Given the description of an element on the screen output the (x, y) to click on. 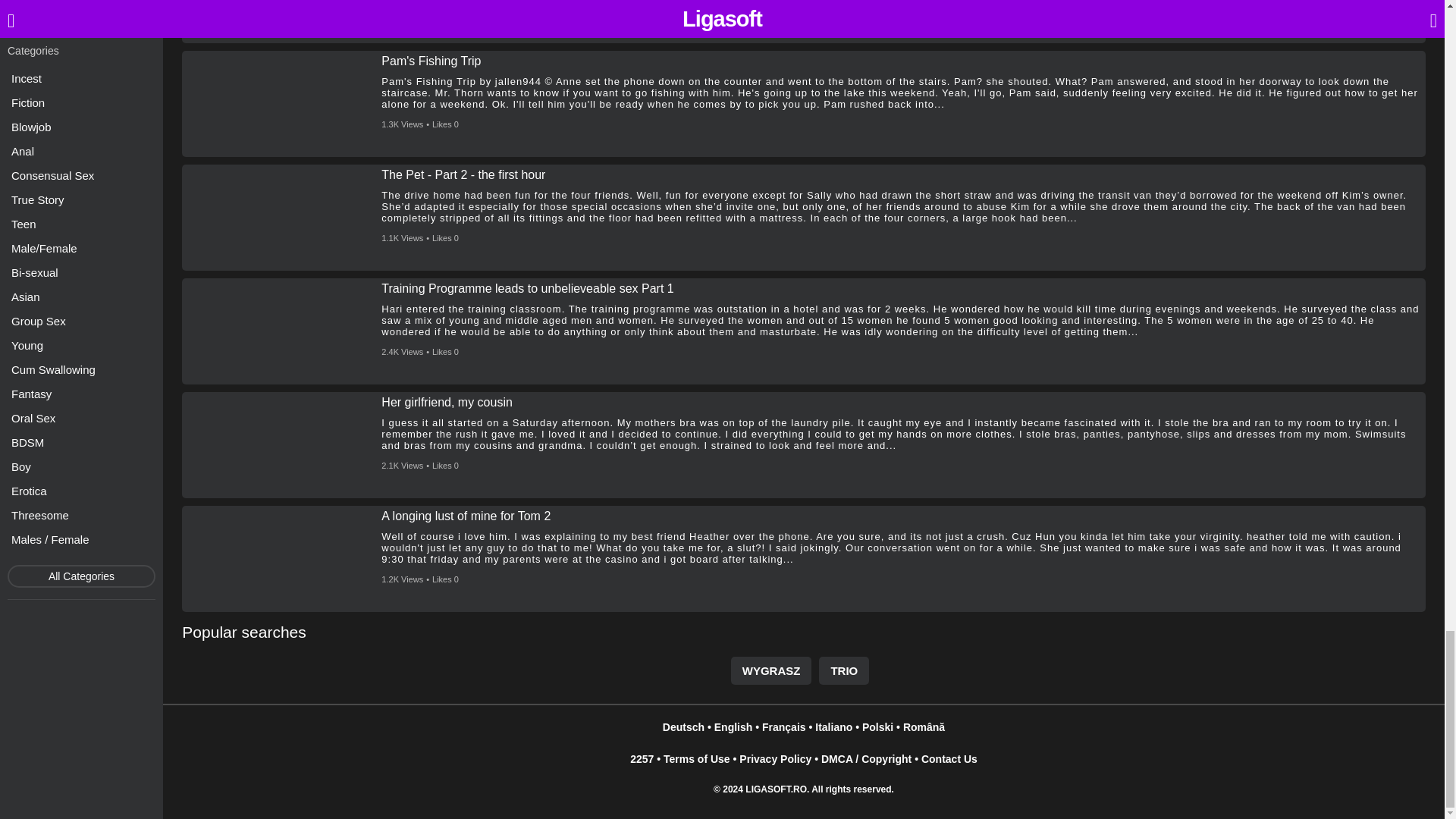
Pam's Fishing Trip (430, 60)
The Pet - Part 2 - the first hour (462, 174)
